Given the description of an element on the screen output the (x, y) to click on. 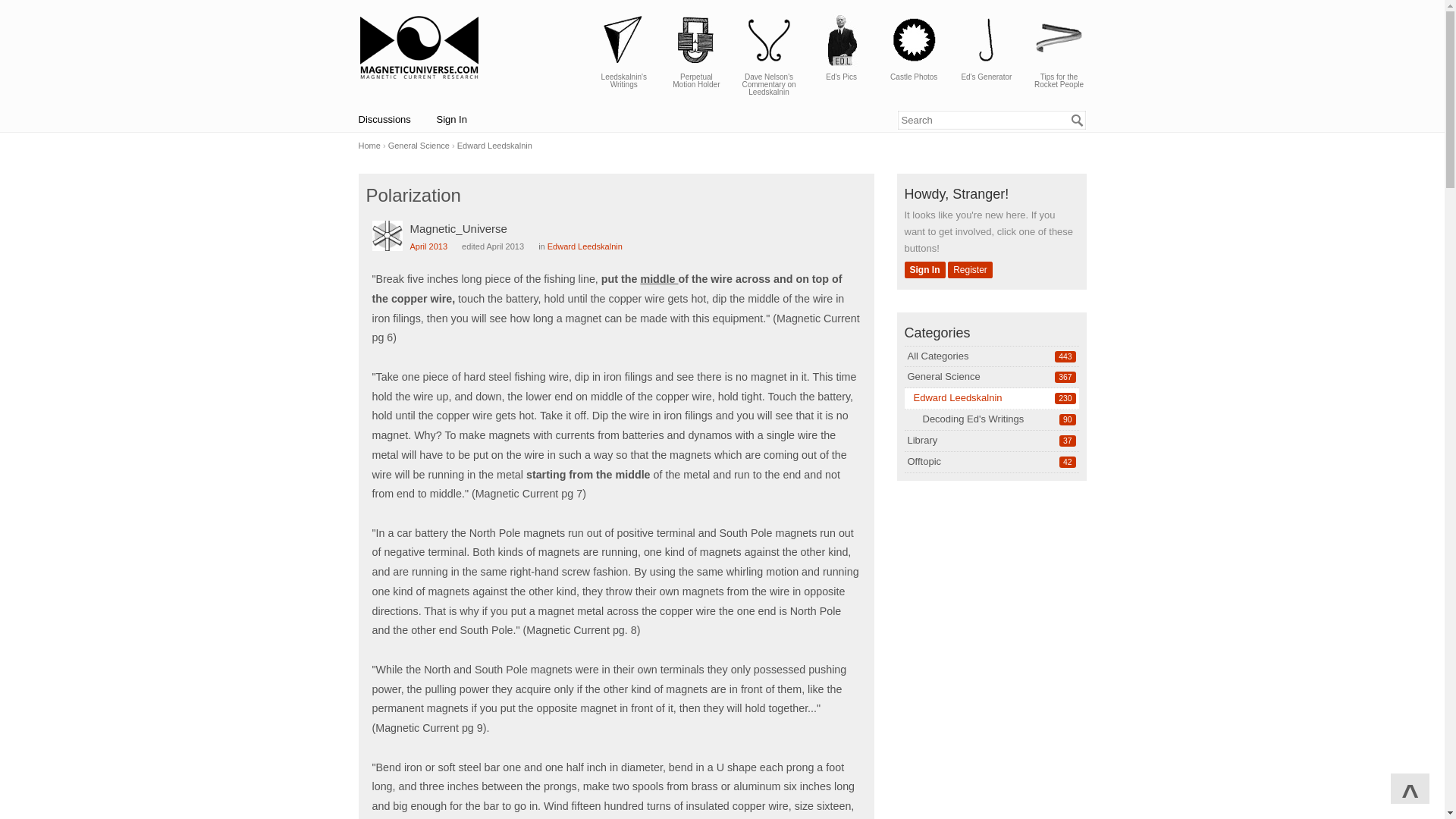
Edward Leedskalnin (937, 355)
Sign In (922, 439)
37 discussions (585, 245)
Register (924, 269)
Go (943, 376)
Edward Leedskalnin (1066, 440)
42 discussions (969, 269)
